Given the description of an element on the screen output the (x, y) to click on. 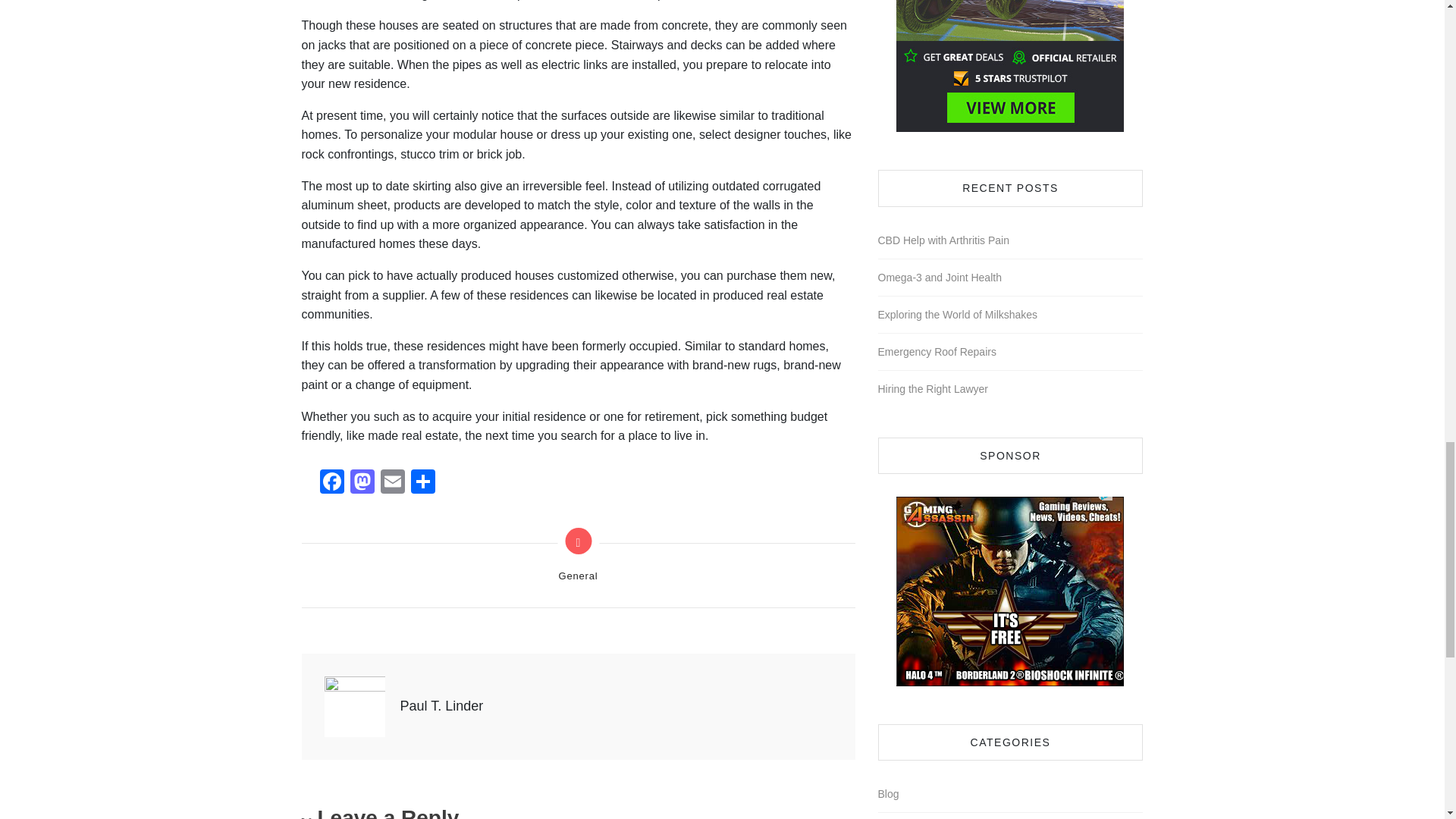
Mastodon (362, 483)
Facebook (332, 483)
Email (392, 483)
Email (392, 483)
Facebook (332, 483)
Mastodon (362, 483)
